Given the description of an element on the screen output the (x, y) to click on. 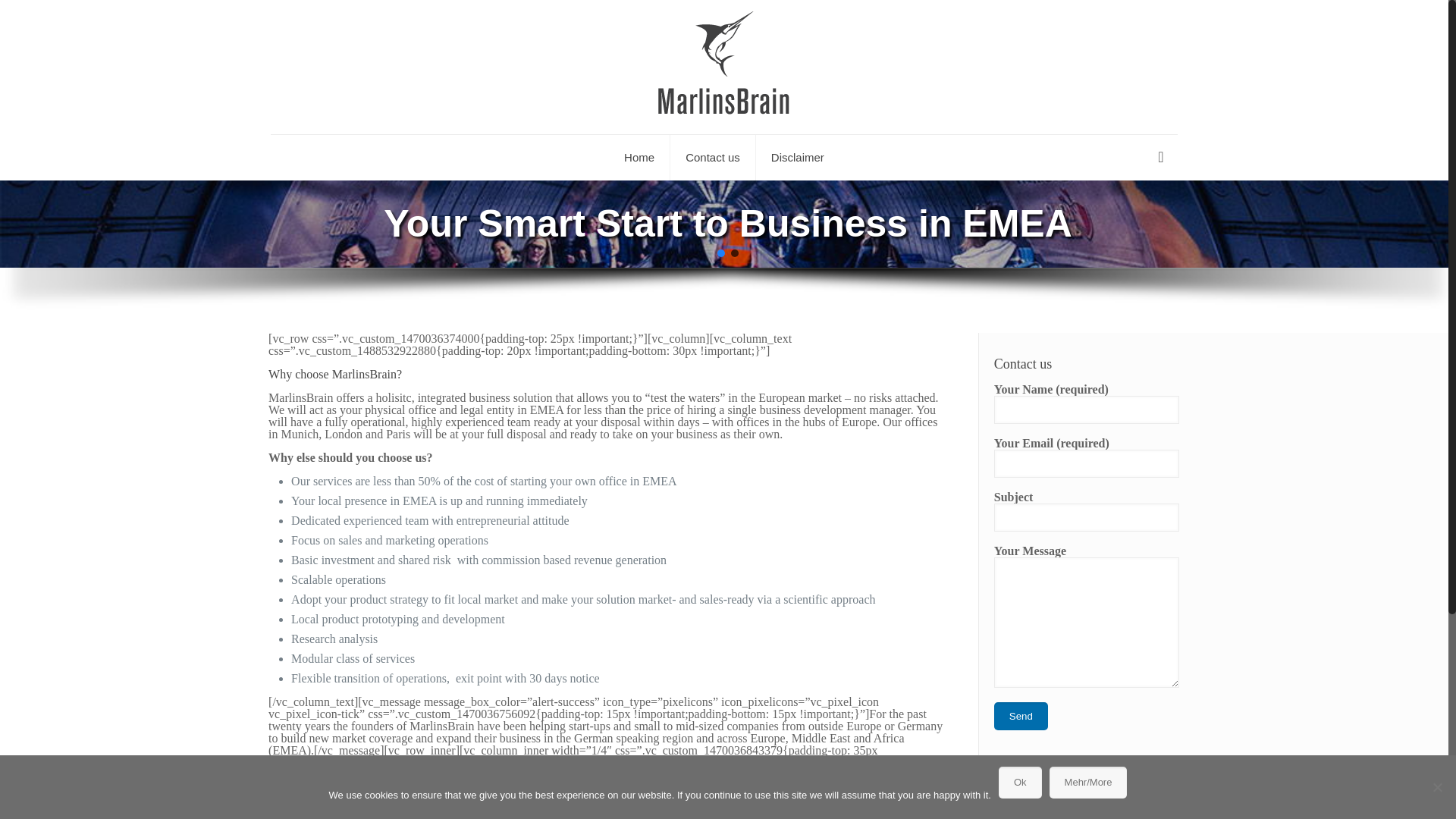
No (1436, 786)
Home (638, 157)
Contact us (712, 157)
Send (1021, 715)
Send (1021, 715)
Disclaimer (797, 157)
Ok (1020, 782)
MarlinsBrain (723, 67)
